Given the description of an element on the screen output the (x, y) to click on. 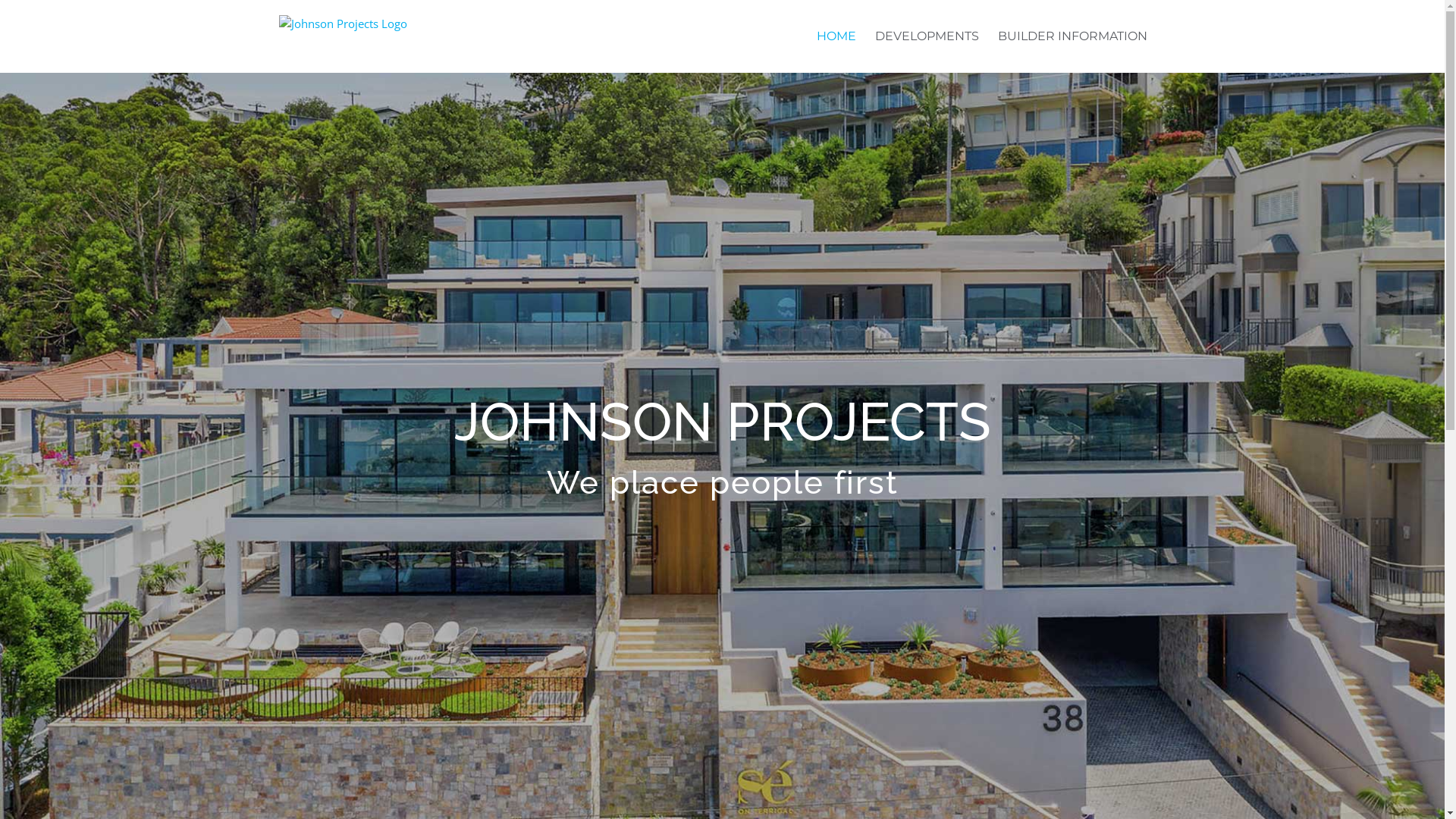
HOME Element type: text (835, 36)
DEVELOPMENTS Element type: text (927, 36)
BUILDER INFORMATION Element type: text (1072, 36)
